Given the description of an element on the screen output the (x, y) to click on. 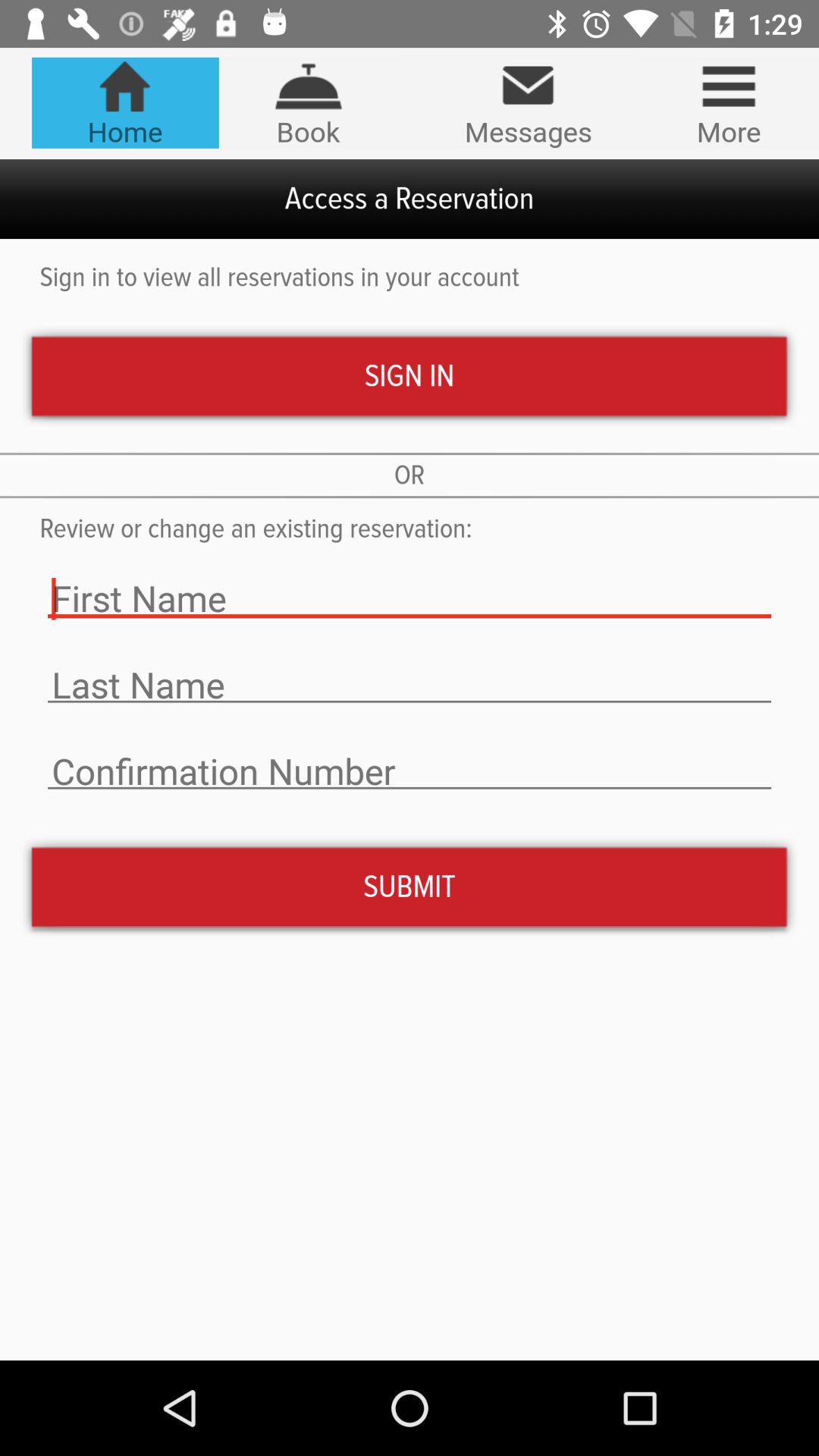
press the item next to the book icon (124, 102)
